Given the description of an element on the screen output the (x, y) to click on. 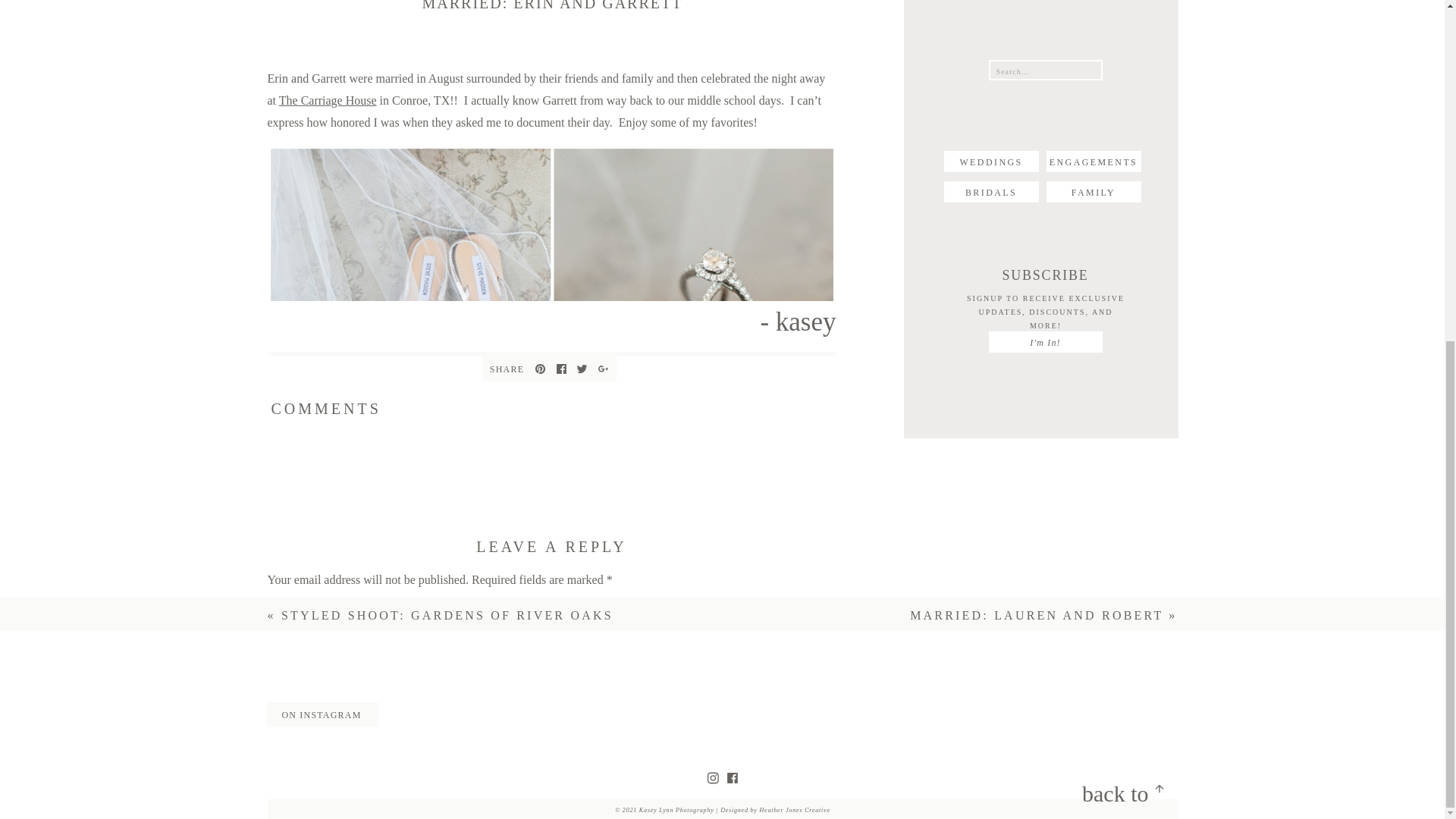
Instagram-color Created with Sketch. (712, 777)
Facebook Copy-color Created with Sketch. (560, 368)
STYLED SHOOT: GARDENS OF RIVER OAKS (446, 615)
WEDDINGS (990, 160)
- kasey (550, 319)
ENGAGEMENTS (1093, 160)
Facebook Copy-color Created with Sketch. (732, 777)
Facebook Copy-color Created with Sketch. (732, 777)
back to top (1100, 792)
The Carriage House (328, 100)
